Given the description of an element on the screen output the (x, y) to click on. 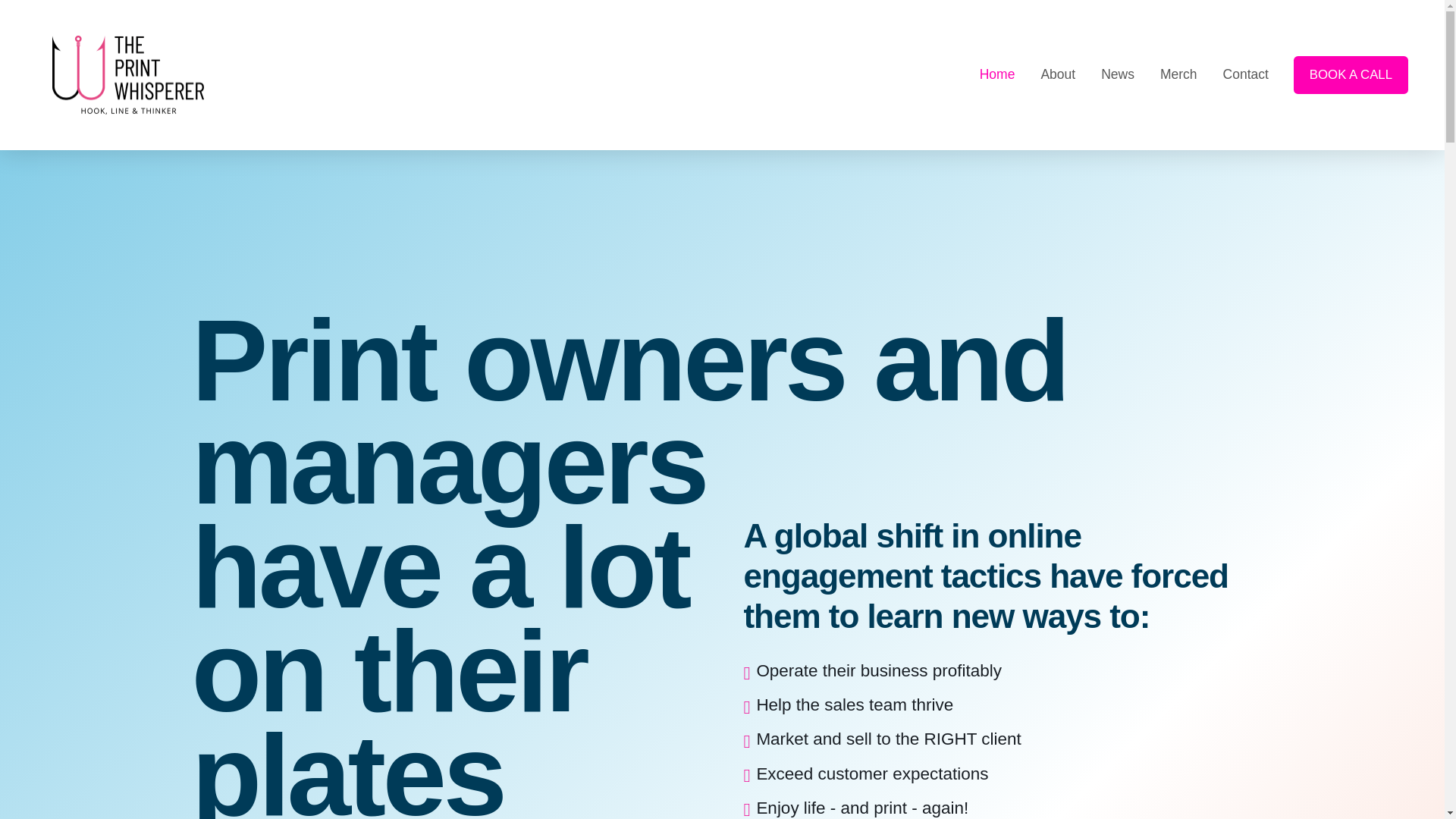
About (1057, 75)
Contact (1245, 75)
BOOK A CALL (1350, 75)
News (1117, 75)
Merch (1178, 75)
Home (996, 75)
